Given the description of an element on the screen output the (x, y) to click on. 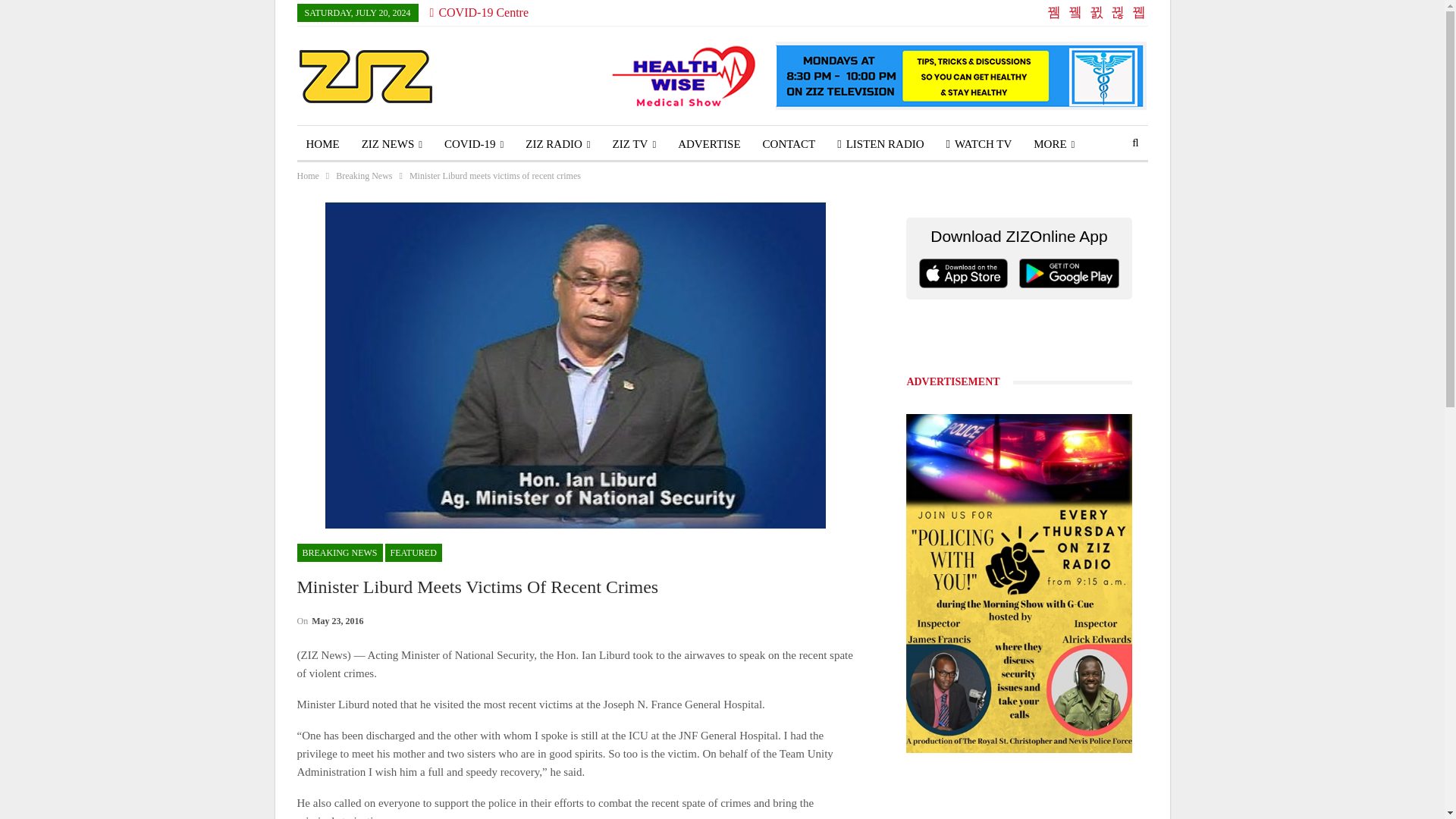
COVID-19 (473, 144)
ZIZ NEWS (391, 144)
COVID-19 Centre (478, 11)
ZIZ RADIO (557, 144)
HOME (323, 144)
